Given the description of an element on the screen output the (x, y) to click on. 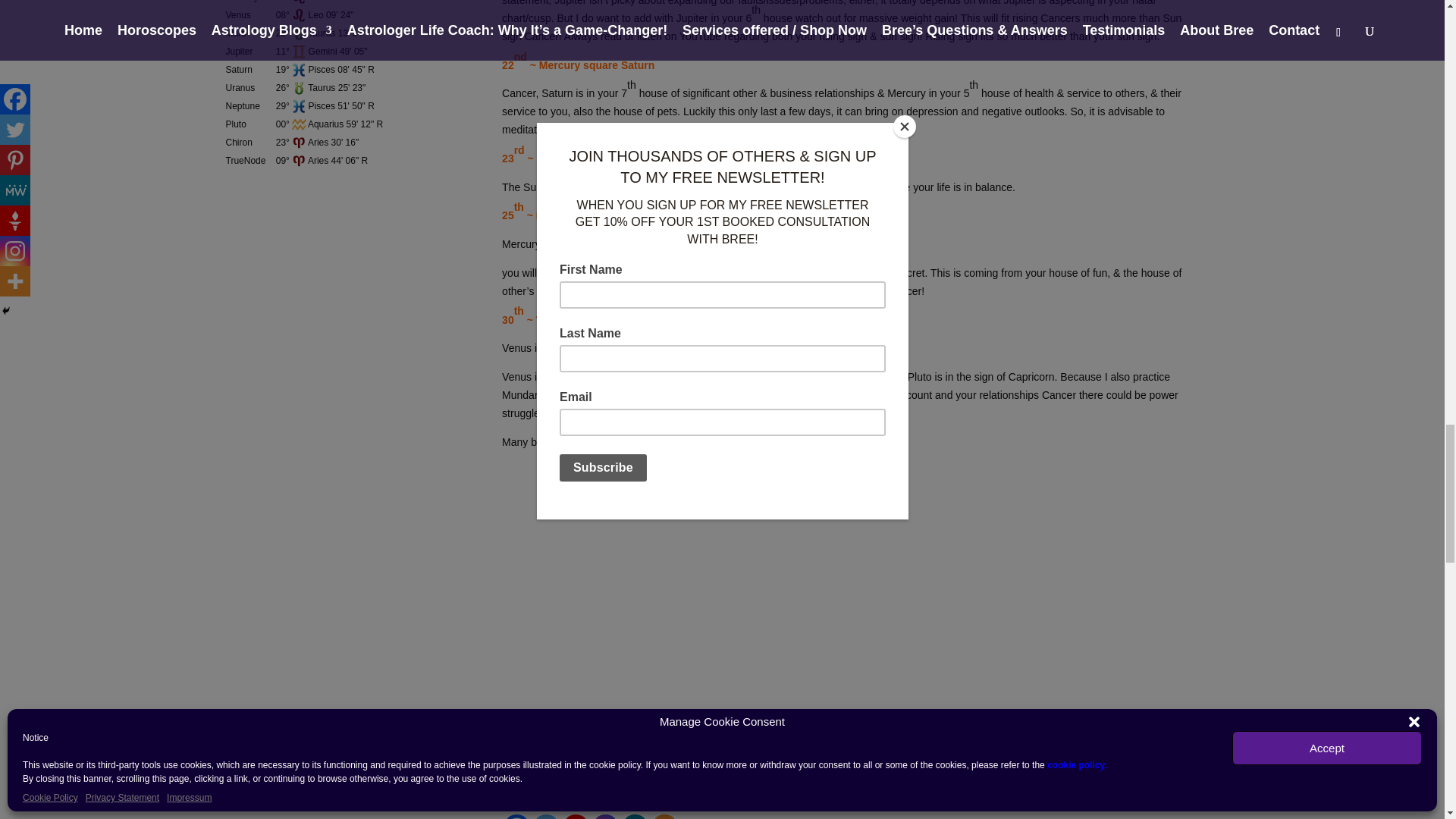
Facebook (516, 816)
More (664, 816)
Instagram (605, 816)
Gettr (575, 816)
MeWe (634, 816)
Twitter (545, 816)
